Given the description of an element on the screen output the (x, y) to click on. 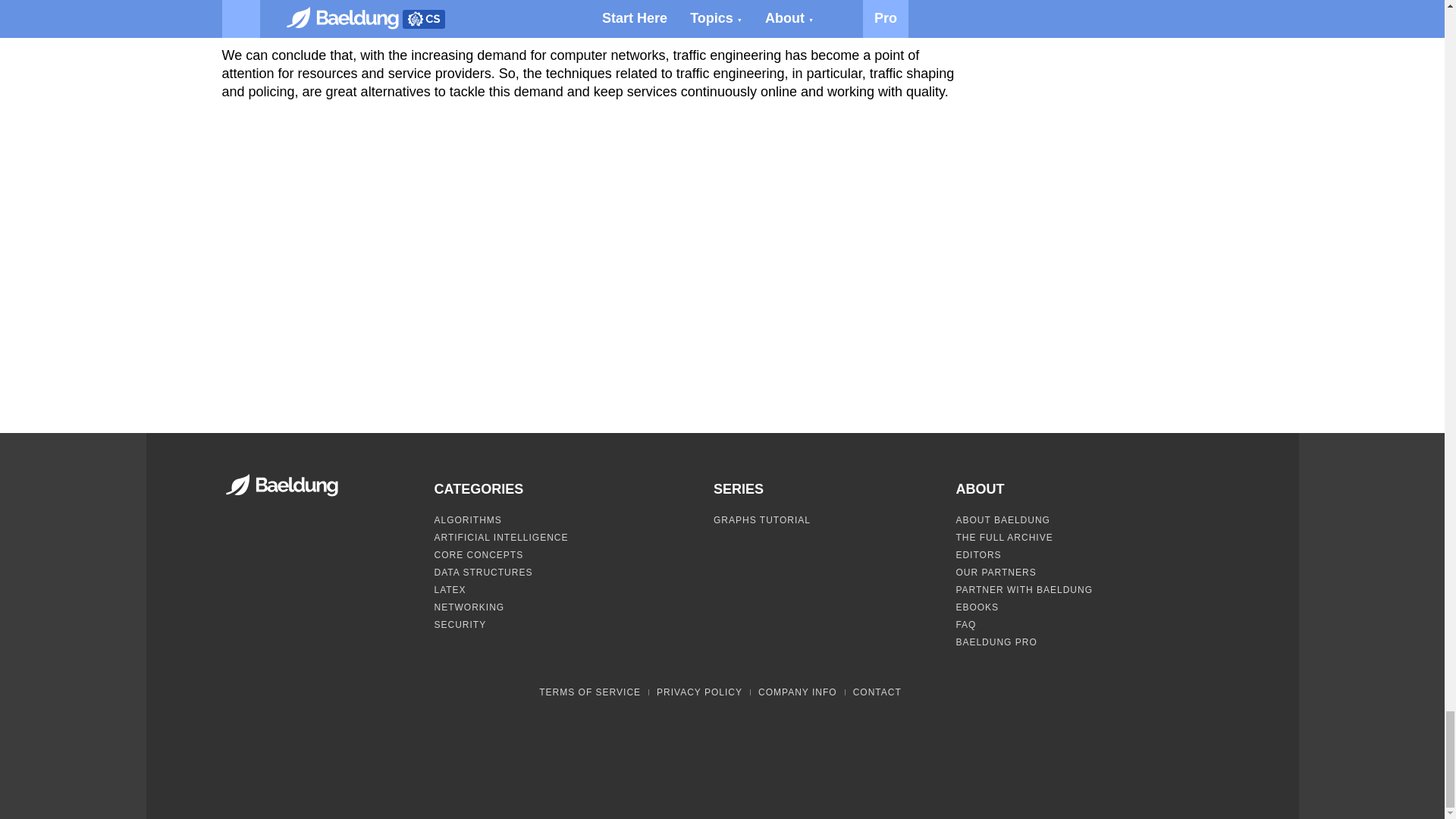
GRAPHS TUTORIAL (761, 520)
SECURITY (459, 624)
NETWORKING (468, 606)
ARTIFICIAL INTELLIGENCE (500, 537)
LATEX (449, 589)
DATA STRUCTURES (482, 572)
CORE CONCEPTS (477, 554)
ALGORITHMS (466, 520)
